Given the description of an element on the screen output the (x, y) to click on. 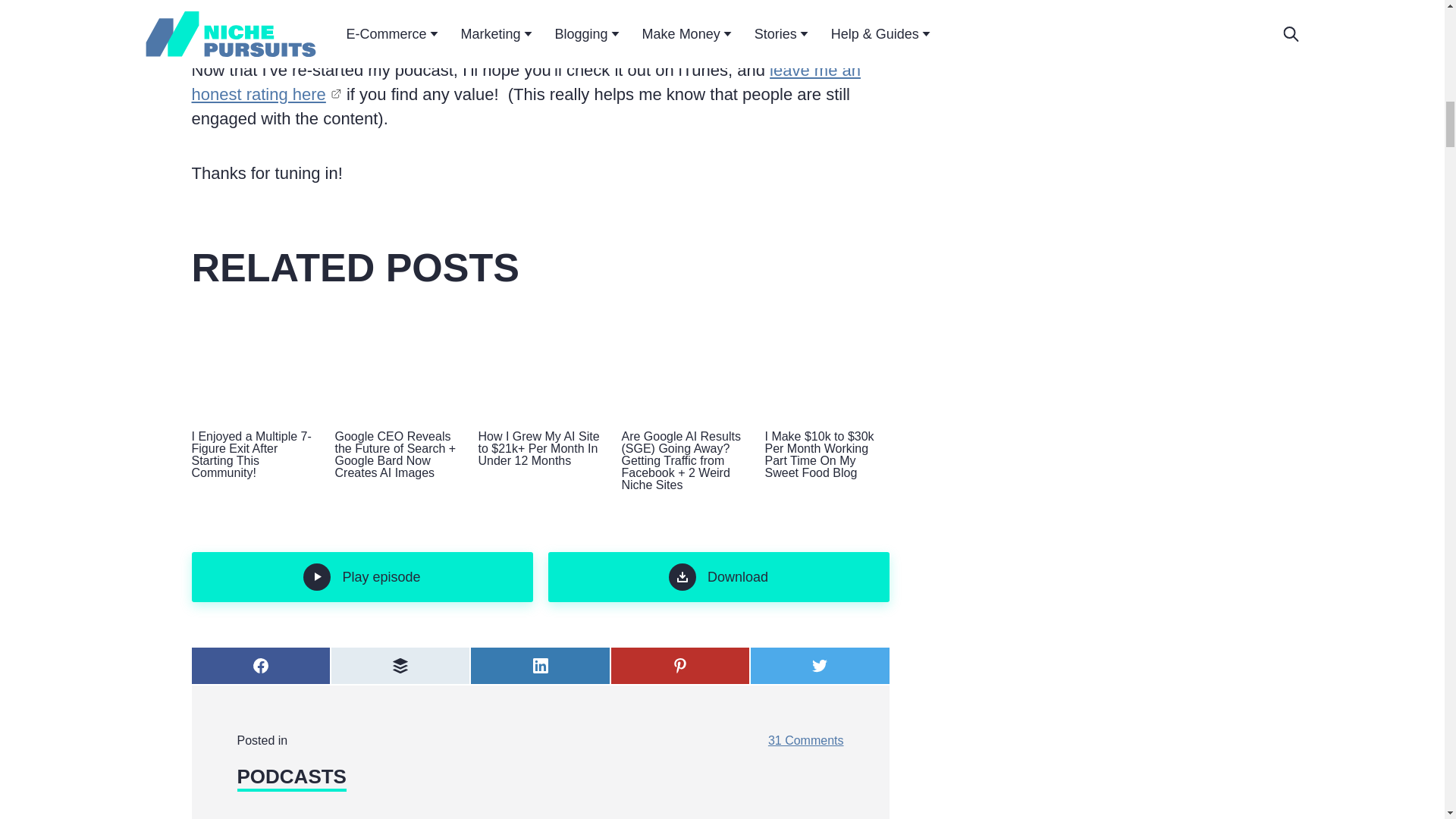
Download (717, 576)
Play episode (361, 576)
Link goes to external site. (471, 3)
